Given the description of an element on the screen output the (x, y) to click on. 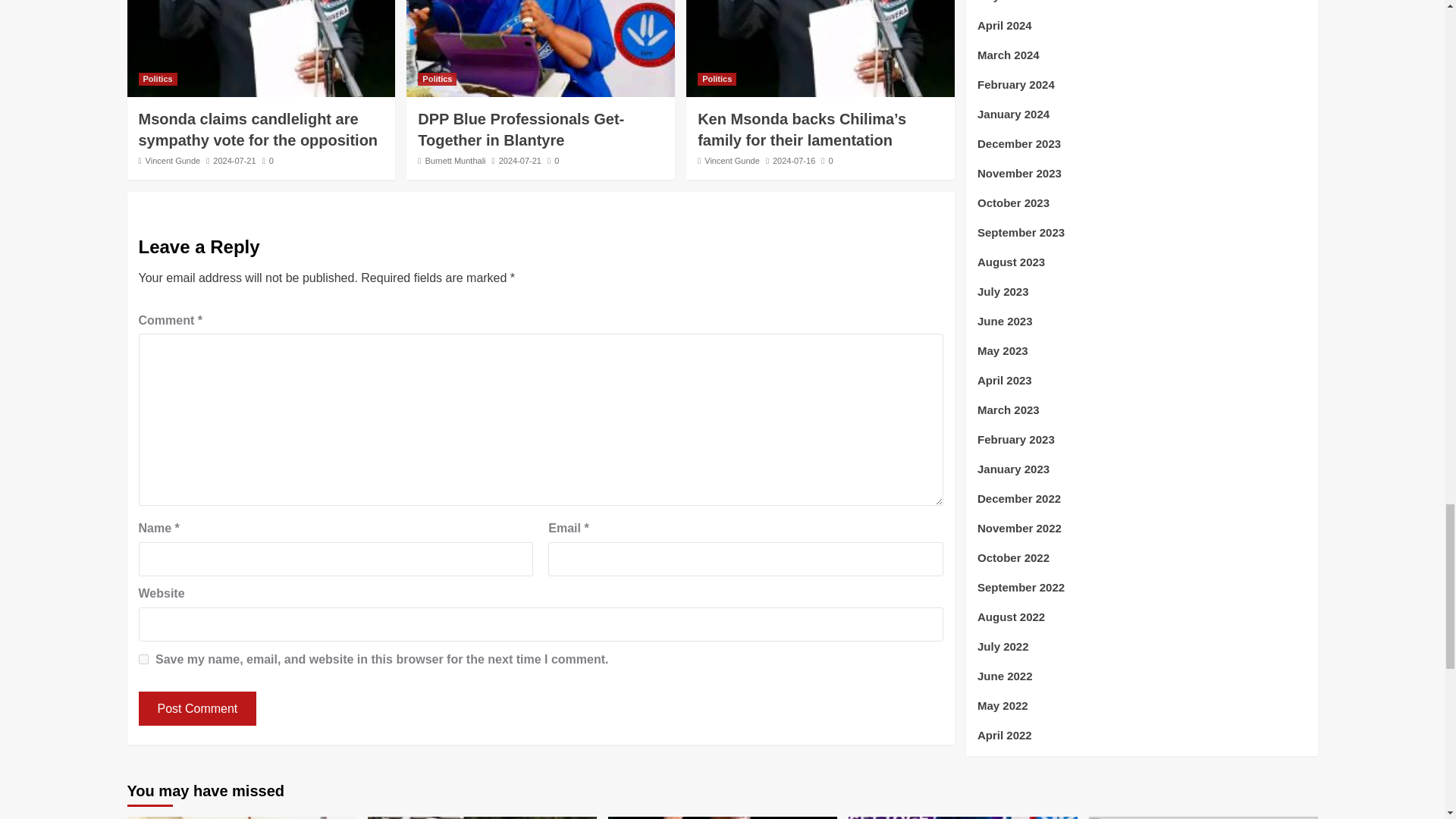
DPP Blue Professionals Get-Together in Blantyre (520, 129)
Burnett Munthali (454, 160)
Politics (437, 78)
Politics (157, 78)
2024-07-21 (234, 160)
yes (143, 659)
Vincent Gunde (172, 160)
Post Comment (197, 708)
0 (267, 160)
